Given the description of an element on the screen output the (x, y) to click on. 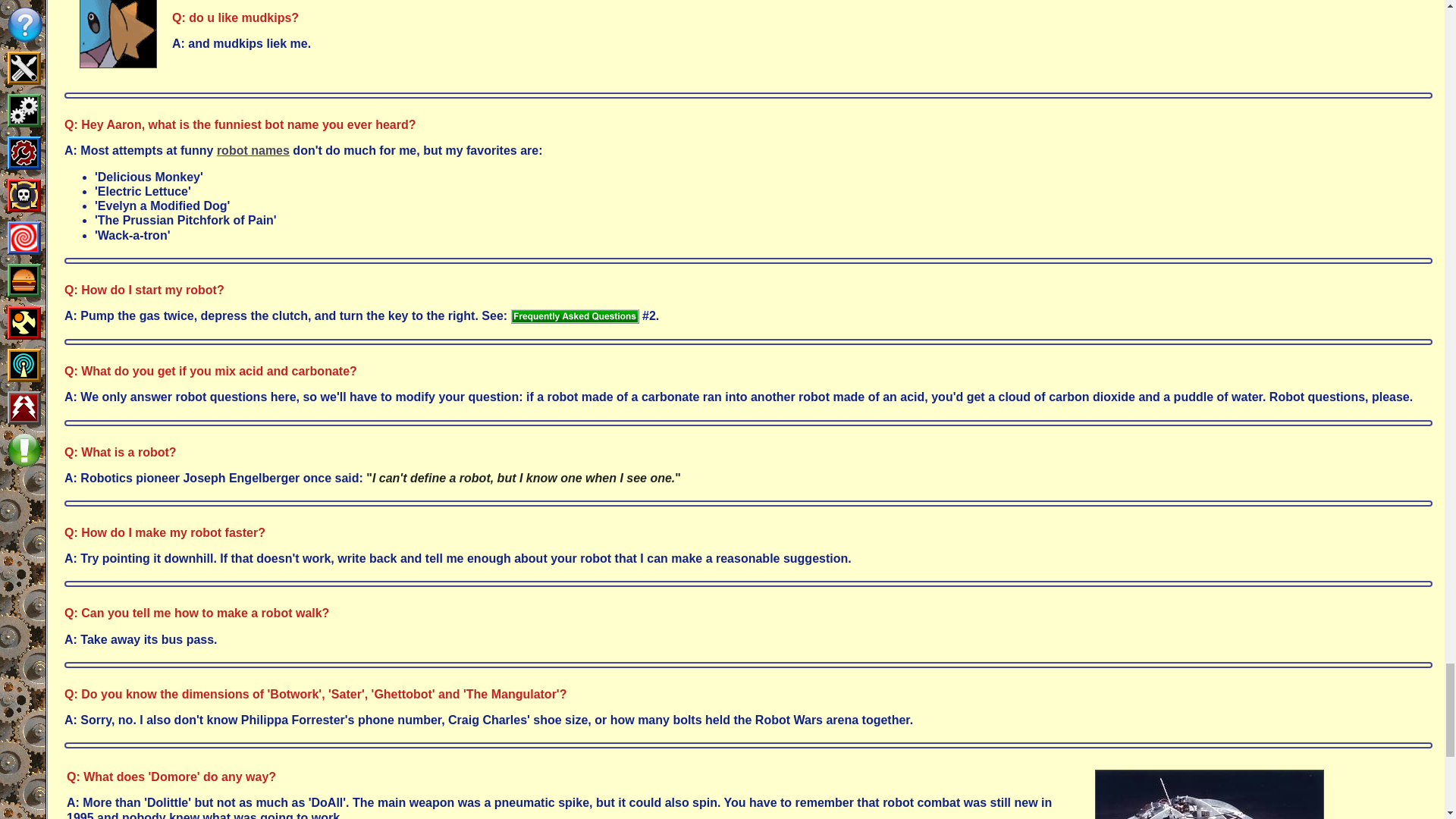
robot names (252, 150)
